Given the description of an element on the screen output the (x, y) to click on. 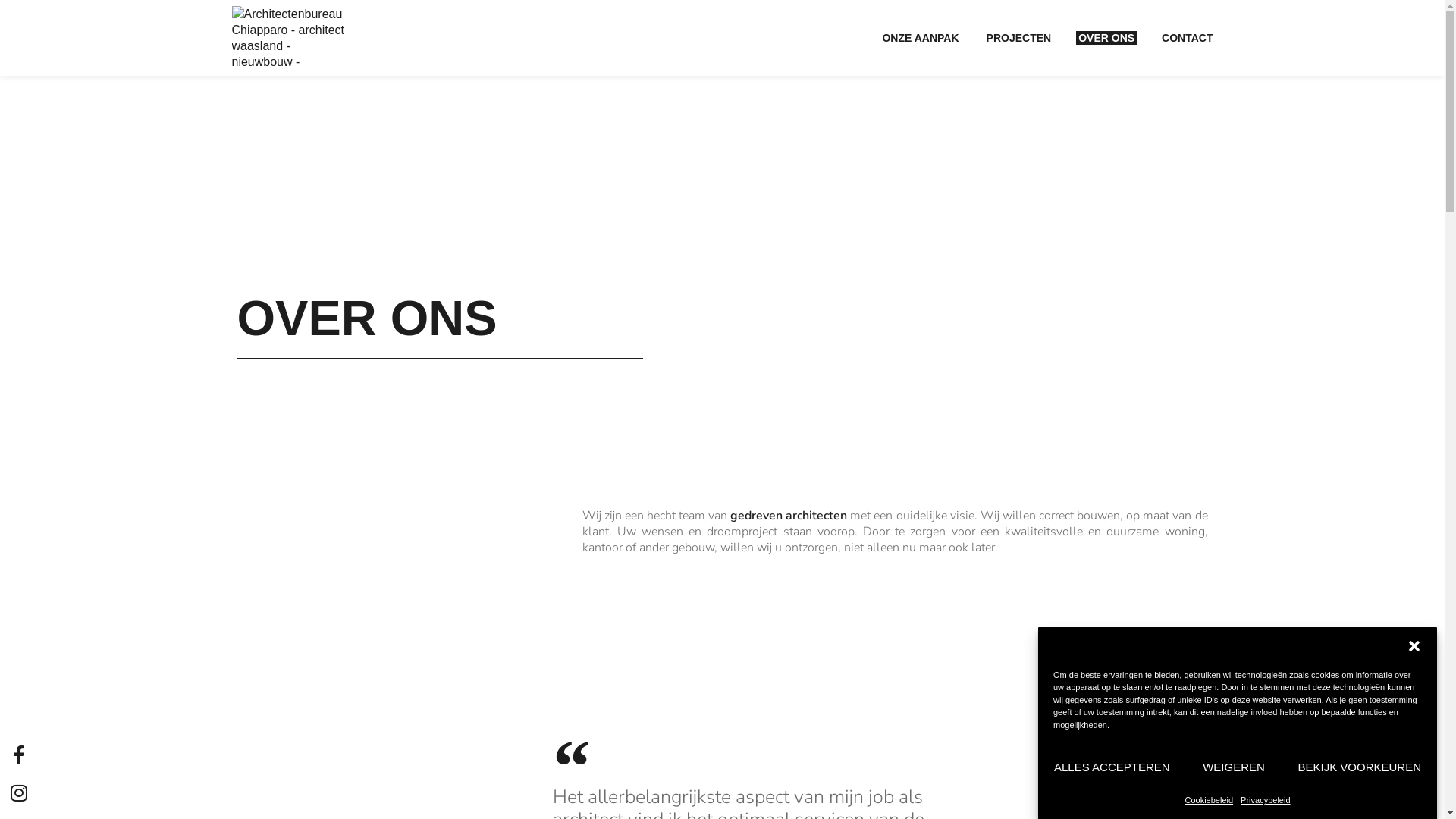
ALLES ACCEPTEREN Element type: text (1111, 766)
OVER ONS Element type: text (1106, 37)
Cookiebeleid Element type: text (1208, 799)
Privacybeleid Element type: text (1264, 799)
ONZE AANPAK Element type: text (919, 37)
CONTACT Element type: text (1186, 37)
BEKIJK VOORKEUREN Element type: text (1358, 766)
PROJECTEN Element type: text (1019, 37)
WEIGEREN Element type: text (1233, 766)
